Given the description of an element on the screen output the (x, y) to click on. 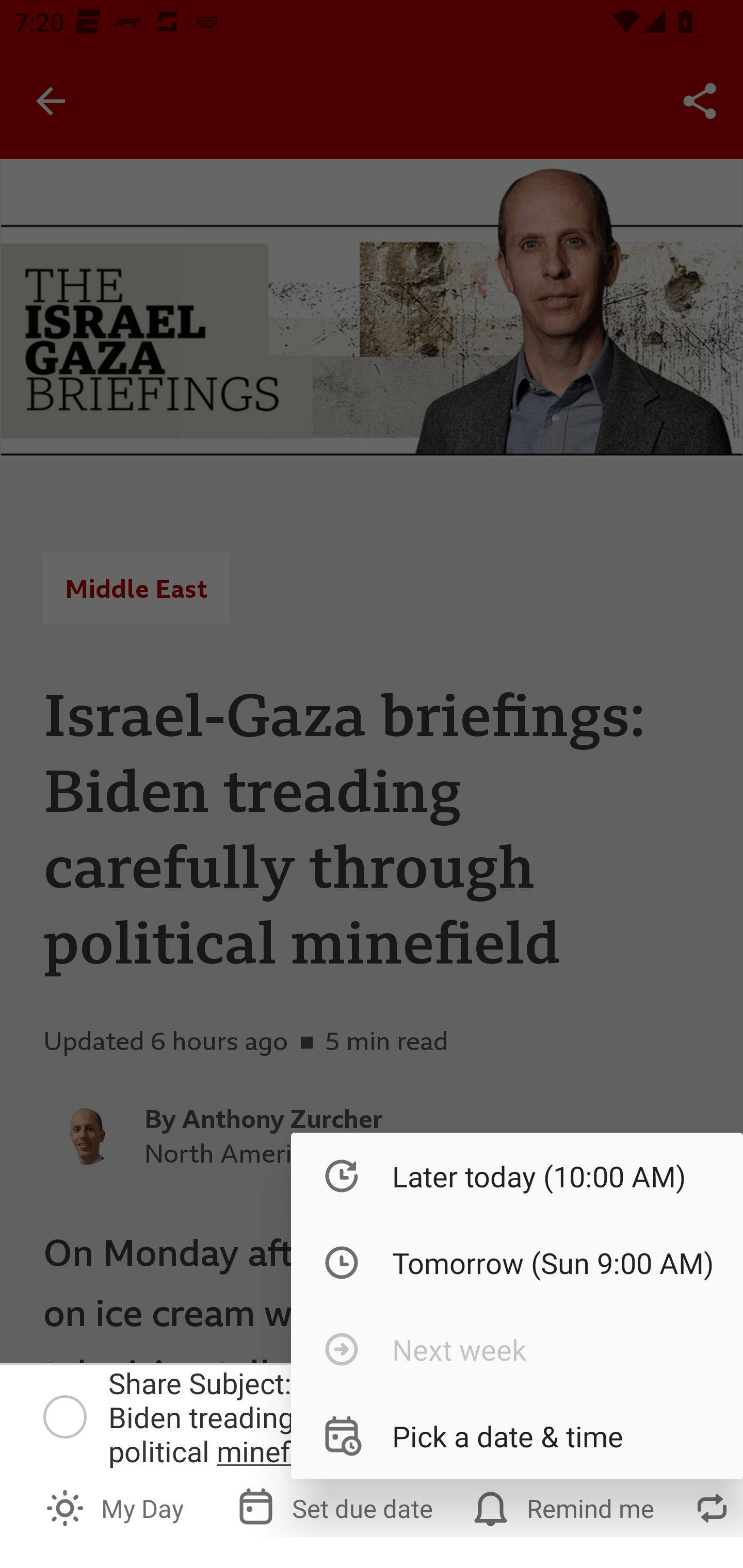
Next weekDimmed Next week (517, 1349)
Pick a date & time4 in 4 Pick a date & time (517, 1435)
